Given the description of an element on the screen output the (x, y) to click on. 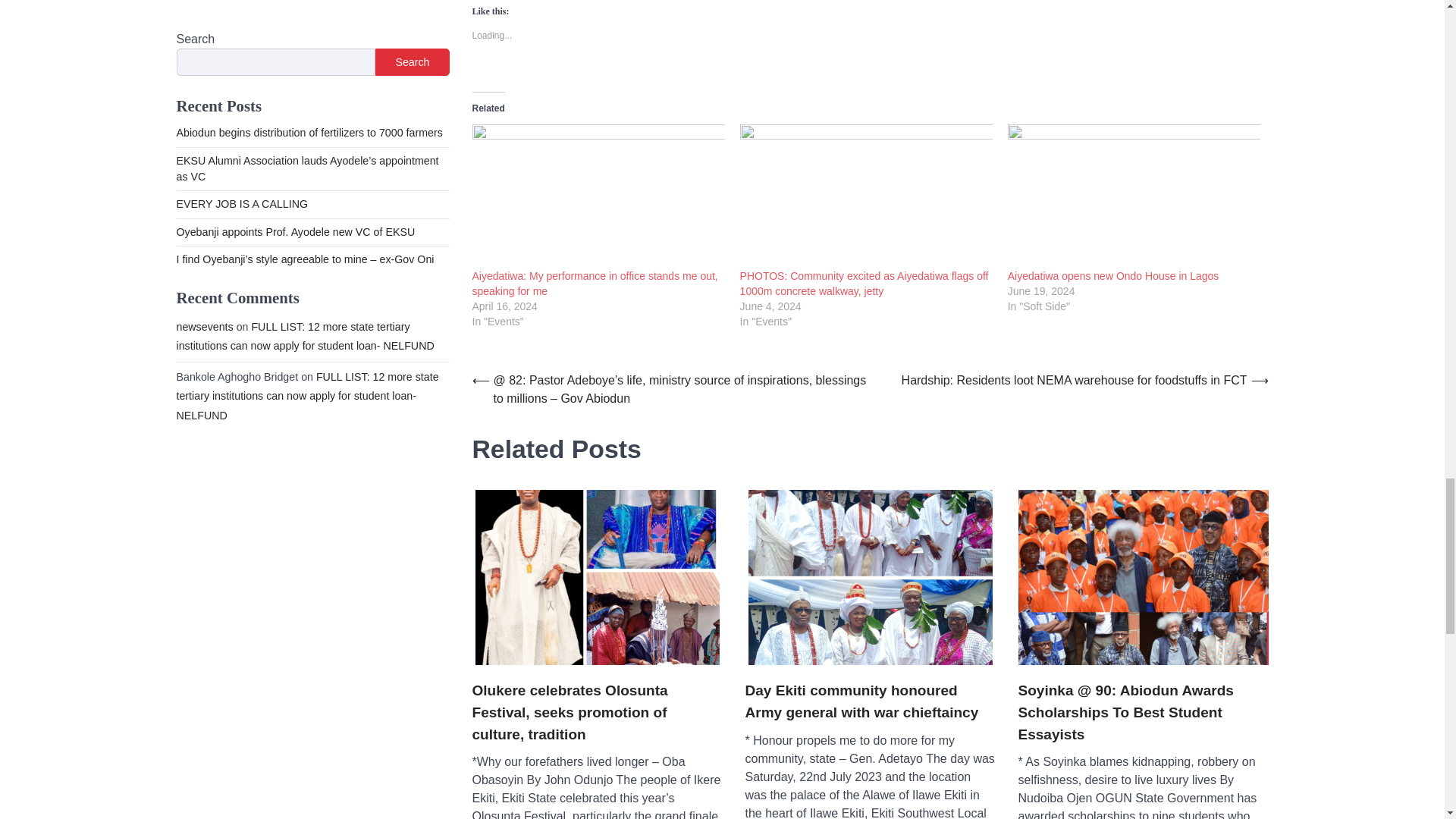
Aiyedatiwa opens new Ondo House in Lagos (1113, 275)
Aiyedatiwa opens new Ondo House in Lagos (1113, 275)
Aiyedatiwa opens new Ondo House in Lagos (1133, 196)
